Given the description of an element on the screen output the (x, y) to click on. 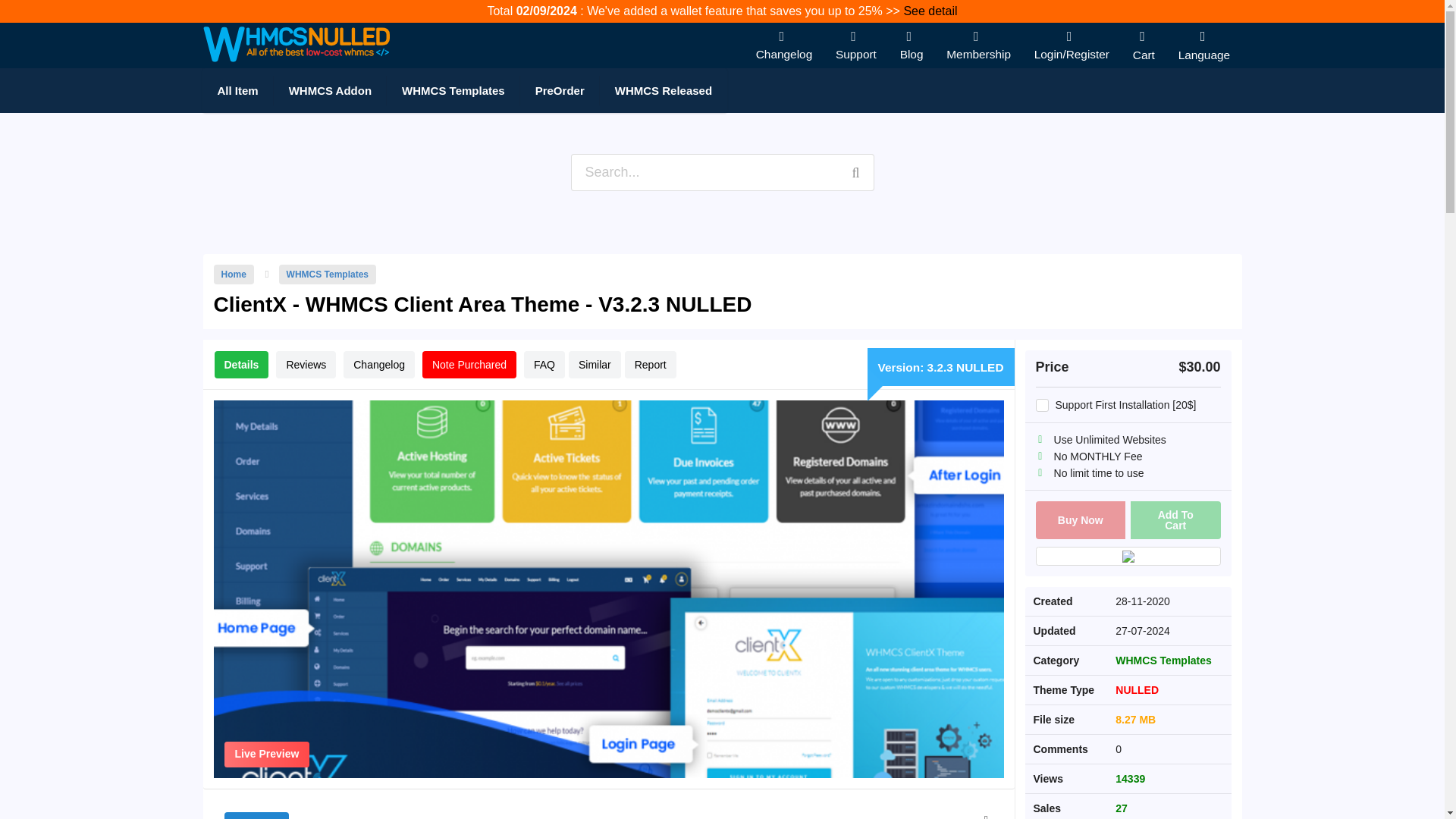
Changelog (783, 44)
See detail (928, 10)
Membership (978, 44)
Categories (559, 91)
Categories (662, 91)
Categories (453, 91)
Categories (330, 91)
All Item (237, 91)
Support (855, 44)
Support (855, 44)
